Given the description of an element on the screen output the (x, y) to click on. 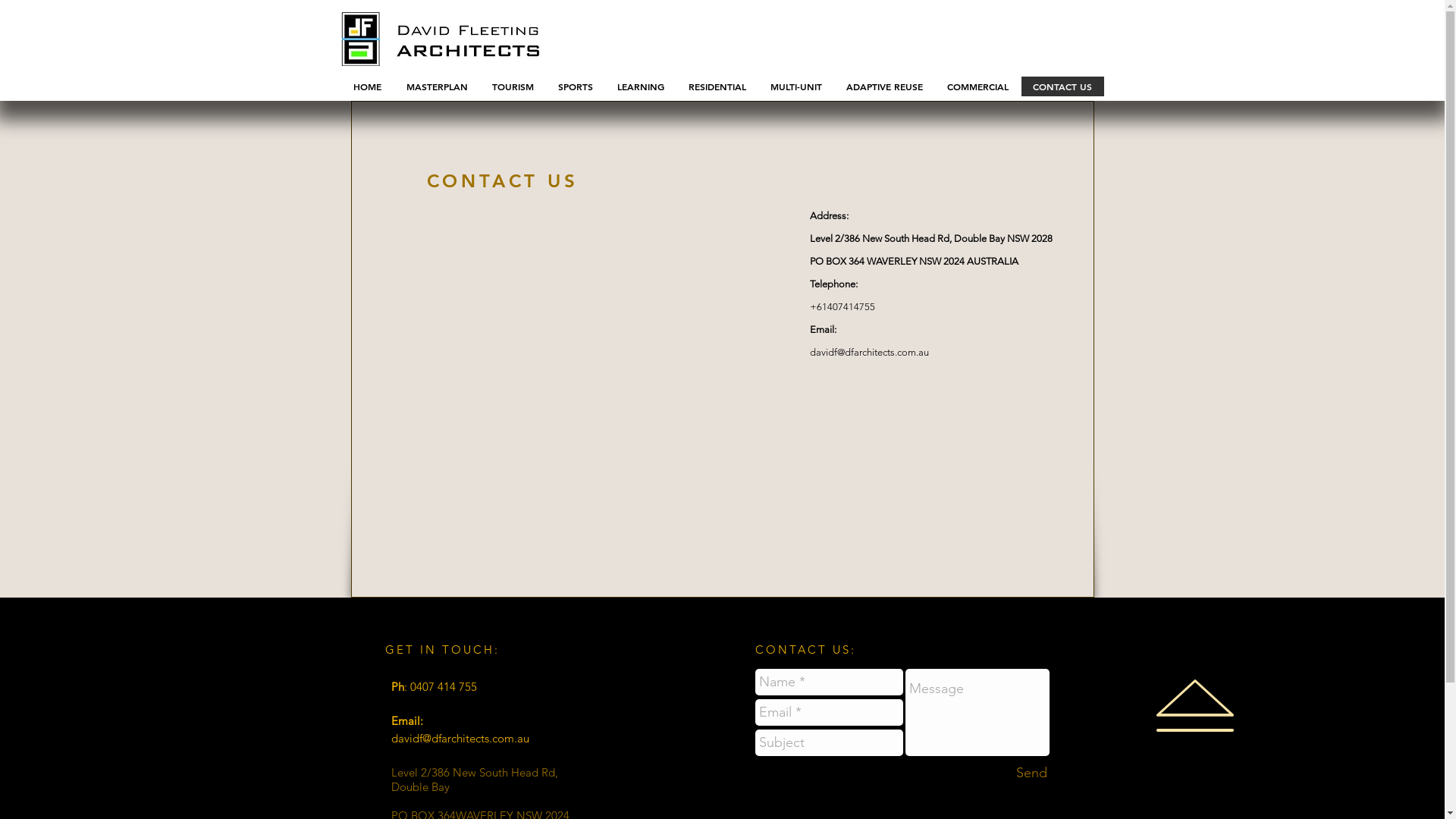
RESIDENTIAL Element type: text (717, 86)
Send Element type: text (1030, 772)
MULTI-UNIT Element type: text (796, 86)
COMMERCIAL Element type: text (976, 86)
ADAPTIVE REUSE Element type: text (884, 86)
MASTERPLAN Element type: text (435, 86)
davidf@dfarchitects.com.au Element type: text (868, 351)
davidf@dfarchitects.com.au Element type: text (460, 738)
LEARNING Element type: text (640, 86)
SPORTS Element type: text (575, 86)
HOME Element type: text (367, 86)
CONTACT US Element type: text (1062, 86)
TOURISM Element type: text (512, 86)
